Given the description of an element on the screen output the (x, y) to click on. 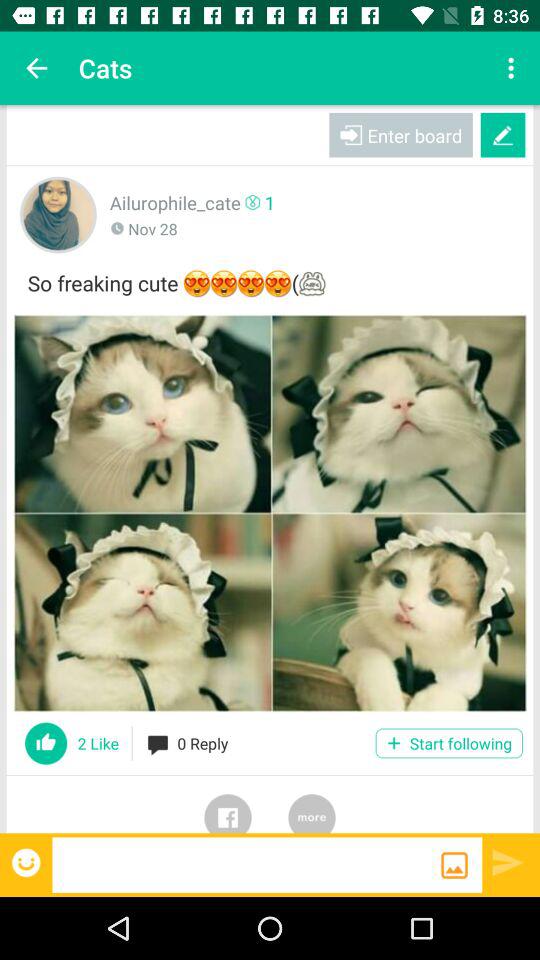
share to facebook (228, 804)
